Given the description of an element on the screen output the (x, y) to click on. 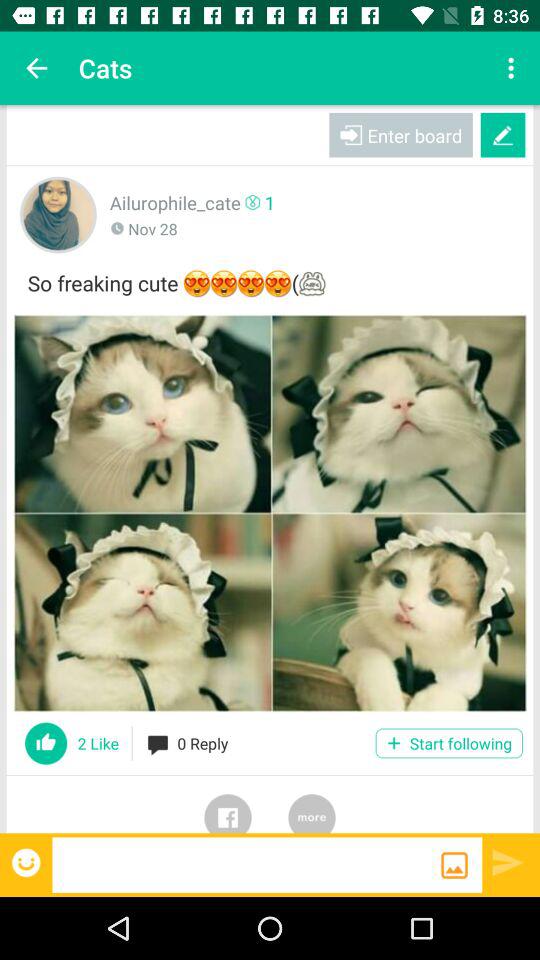
share to facebook (228, 804)
